Given the description of an element on the screen output the (x, y) to click on. 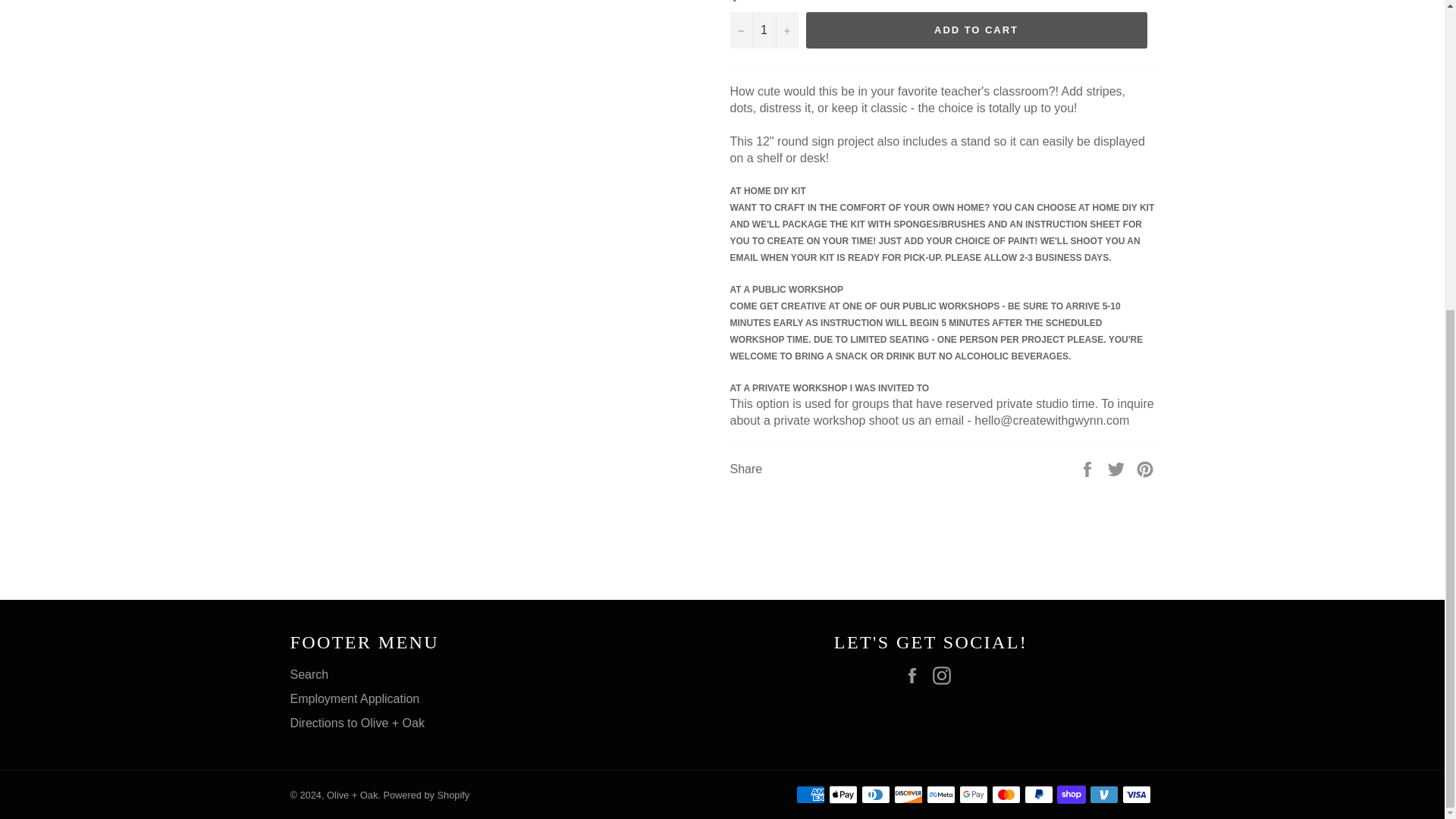
1 (763, 30)
Pin on Pinterest (1144, 468)
Share on Facebook (1088, 468)
Tweet on Twitter (1117, 468)
